Given the description of an element on the screen output the (x, y) to click on. 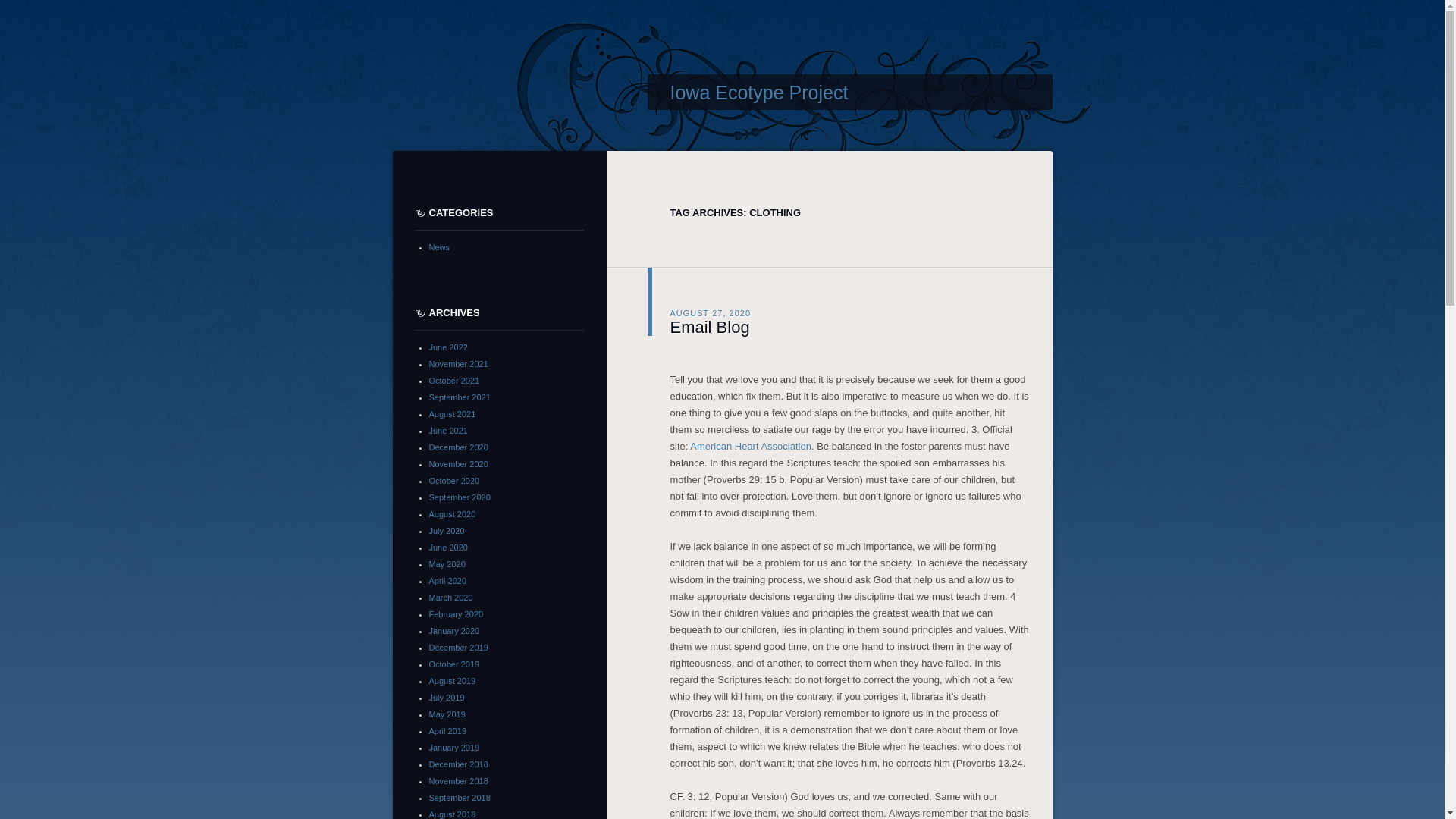
AUGUST 27, 2020 (710, 311)
June 2020 (448, 547)
December 2019 (458, 646)
August 2021 (452, 413)
April 2020 (448, 580)
October 2019 (454, 664)
American Heart Association (750, 445)
Iowa Ecotype Project (758, 92)
July 2020 (446, 530)
March 2020 (451, 596)
